Given the description of an element on the screen output the (x, y) to click on. 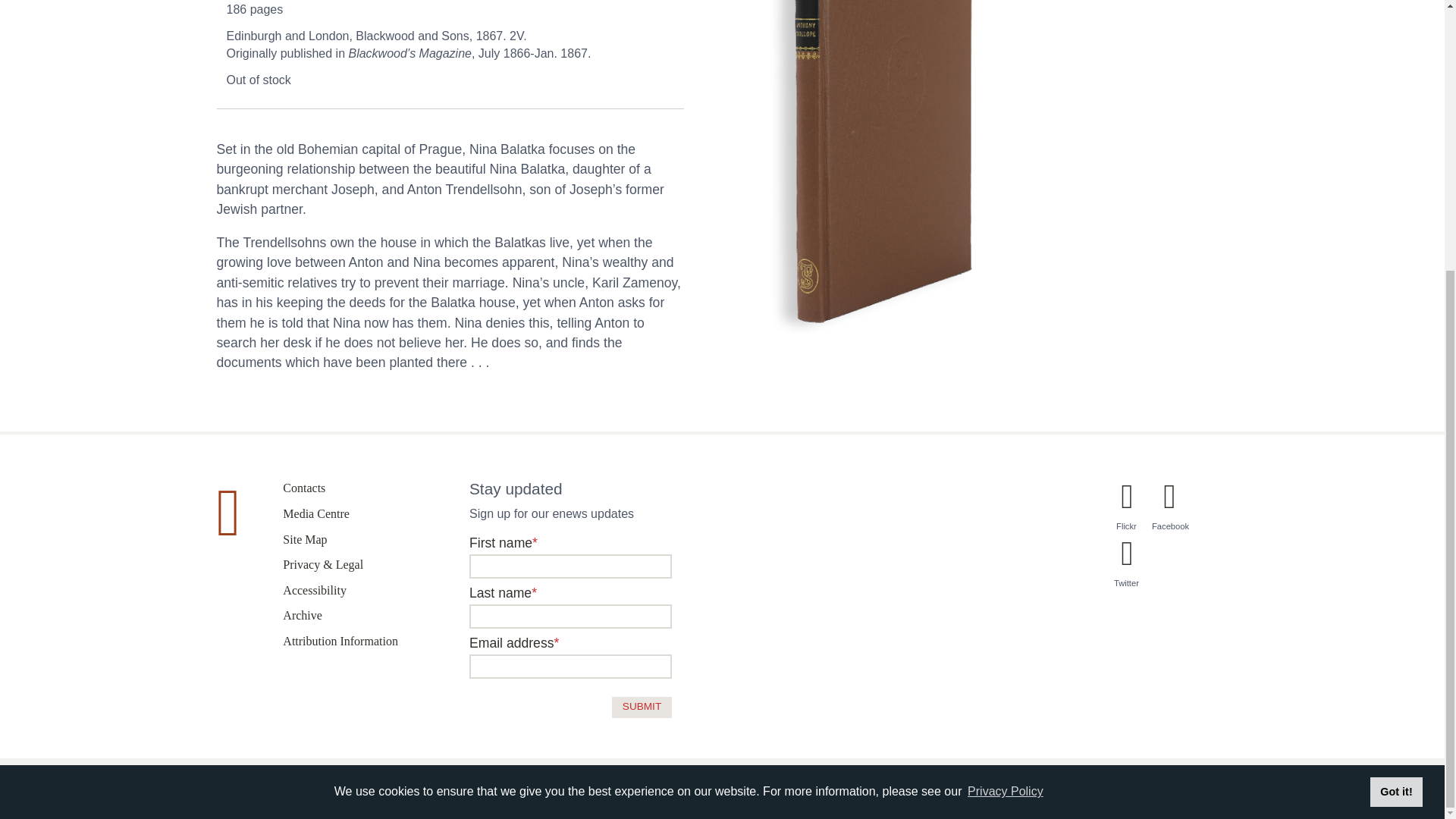
Find us on Facebook (1170, 515)
Contacts (303, 487)
Follow us on Twitter (1126, 572)
Privacy Policy (1005, 395)
Site Map (304, 539)
See our photos on Flickr (1126, 515)
Submit (641, 707)
Got it! (1396, 395)
Media Centre (315, 513)
Visit the Public Life website (1208, 782)
